Given the description of an element on the screen output the (x, y) to click on. 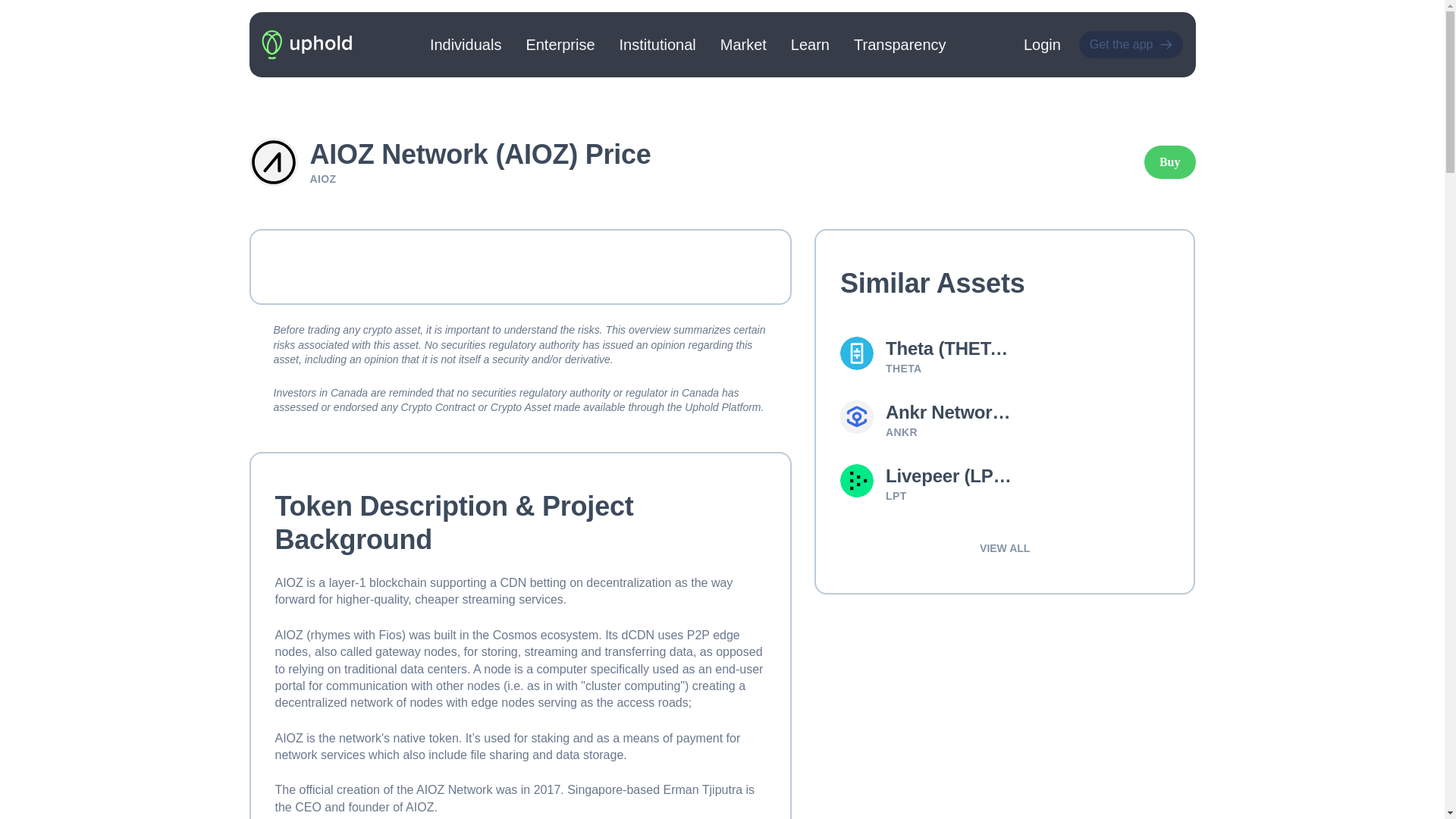
Market (743, 44)
Learn (809, 44)
Transparency (899, 44)
VIEW ALL (1004, 548)
Login (1042, 44)
Individuals (465, 44)
Enterprise (559, 44)
Institutional (657, 44)
Get the app (1130, 44)
Buy (1169, 162)
